Given the description of an element on the screen output the (x, y) to click on. 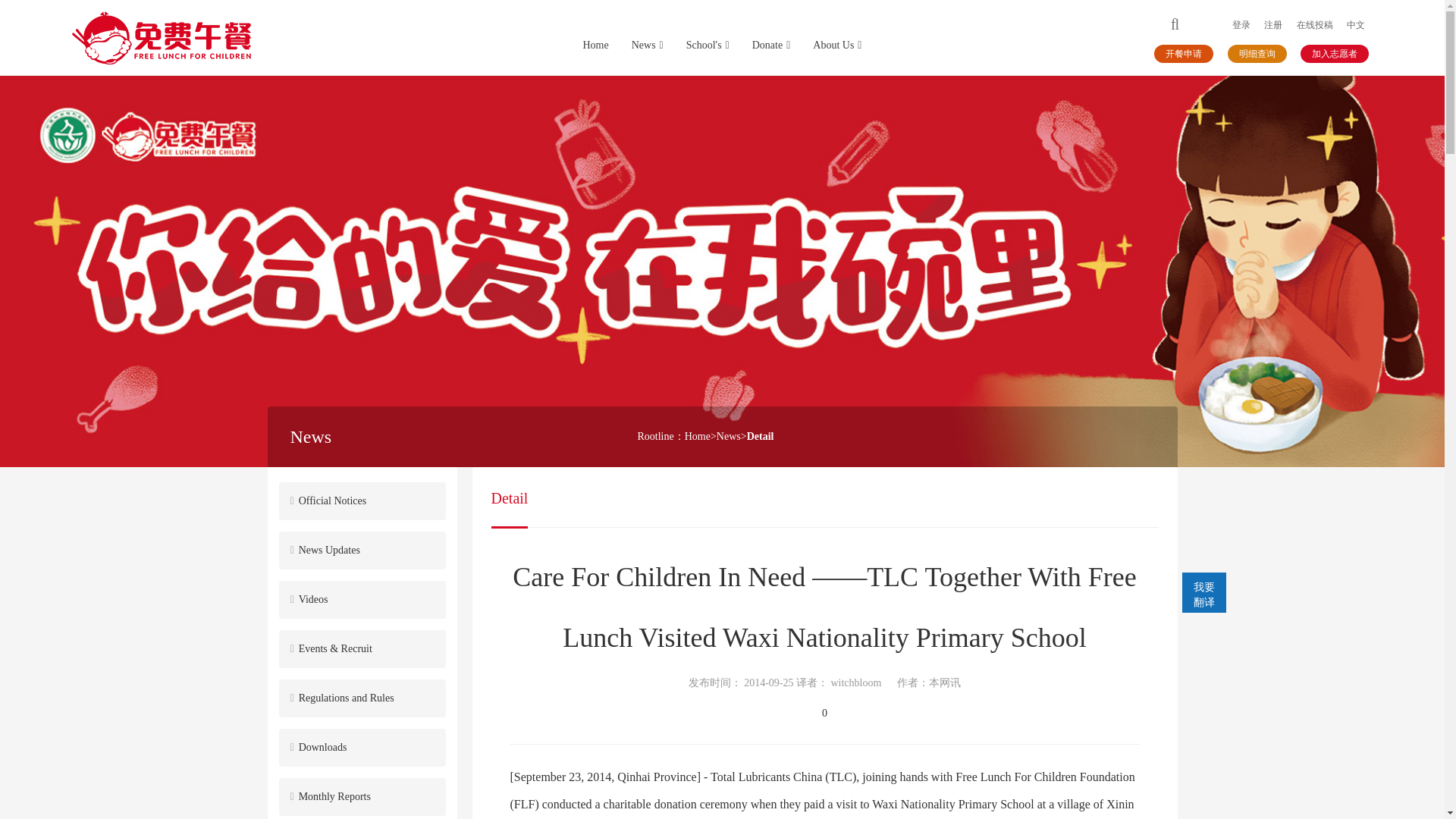
Donate (771, 45)
Home (697, 436)
News (647, 45)
School's (708, 45)
About Us (837, 45)
